Given the description of an element on the screen output the (x, y) to click on. 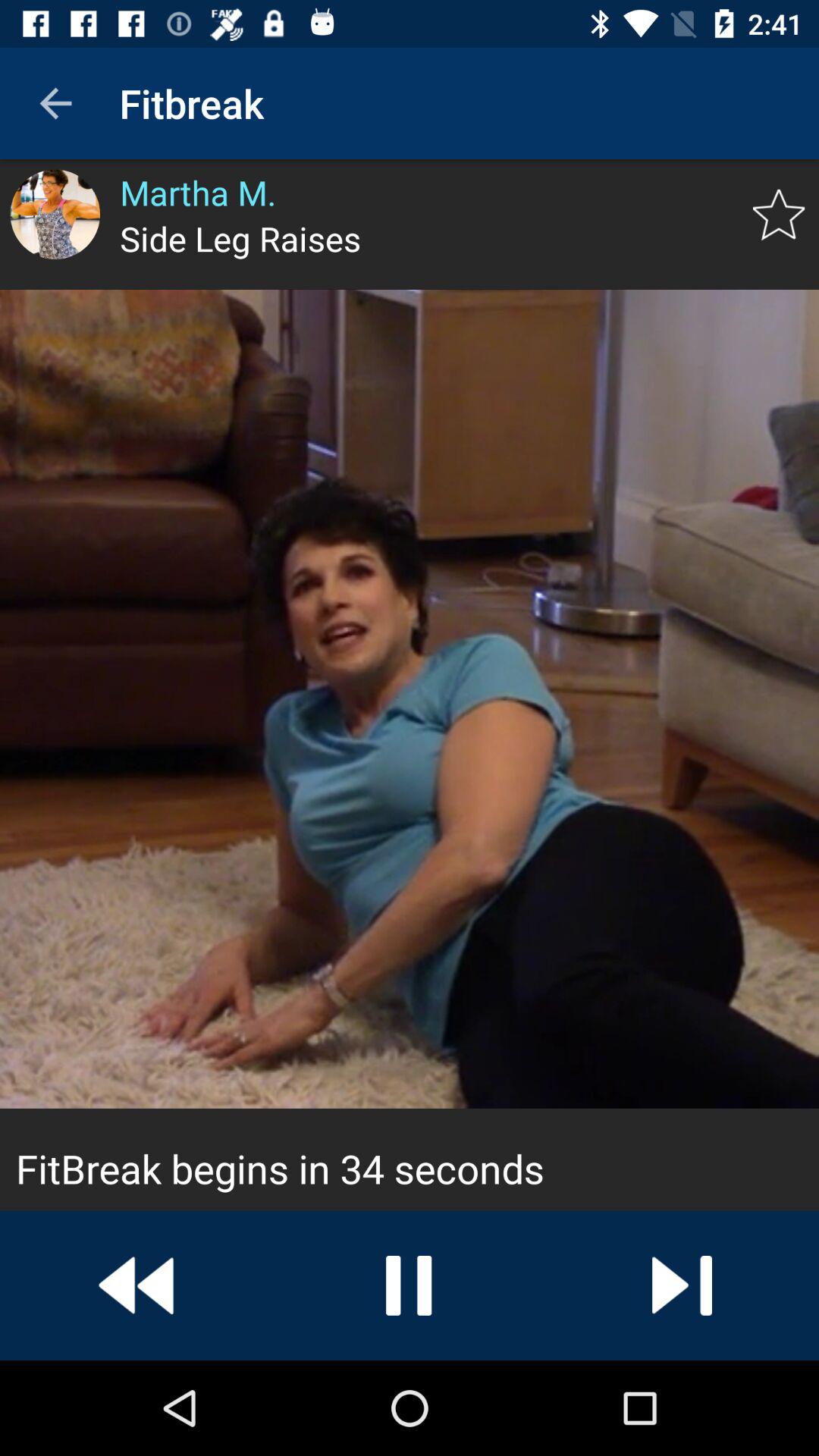
a button to play (682, 1285)
